Given the description of an element on the screen output the (x, y) to click on. 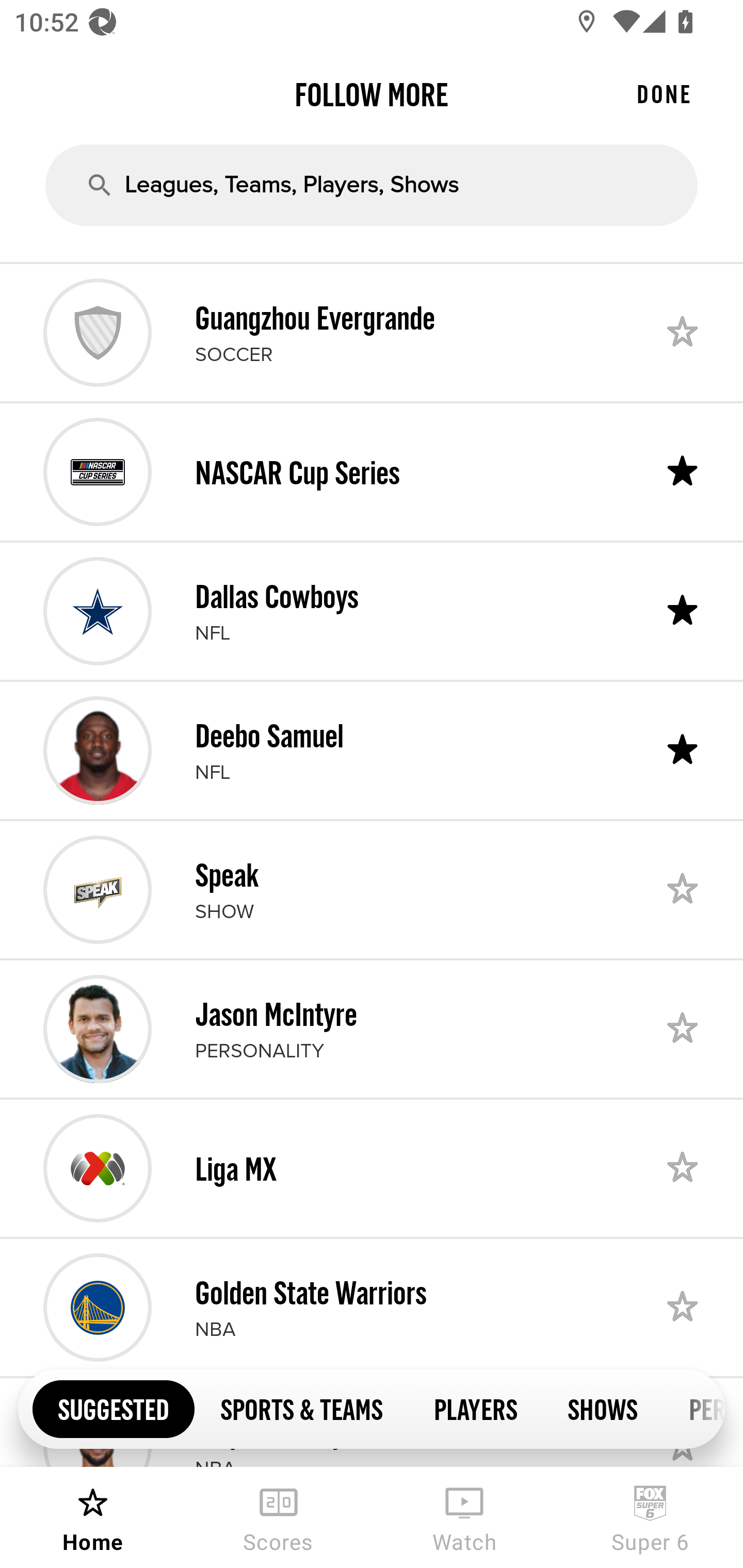
DONE (663, 93)
Leagues, Teams, Players, Shows (371, 184)
Guangzhou Evergrande SOCCER (371, 332)
NASCAR Cup Series (371, 471)
Dallas Cowboys NFL (371, 611)
Deebo Samuel NFL (371, 750)
Speak SHOW (371, 889)
Jason McIntyre PERSONALITY (371, 1028)
Liga MX (371, 1168)
Golden State Warriors NBA (371, 1307)
SPORTS & TEAMS (300, 1408)
PLAYERS (474, 1408)
SHOWS (602, 1408)
Scores (278, 1517)
Watch (464, 1517)
Super 6 (650, 1517)
